Given the description of an element on the screen output the (x, y) to click on. 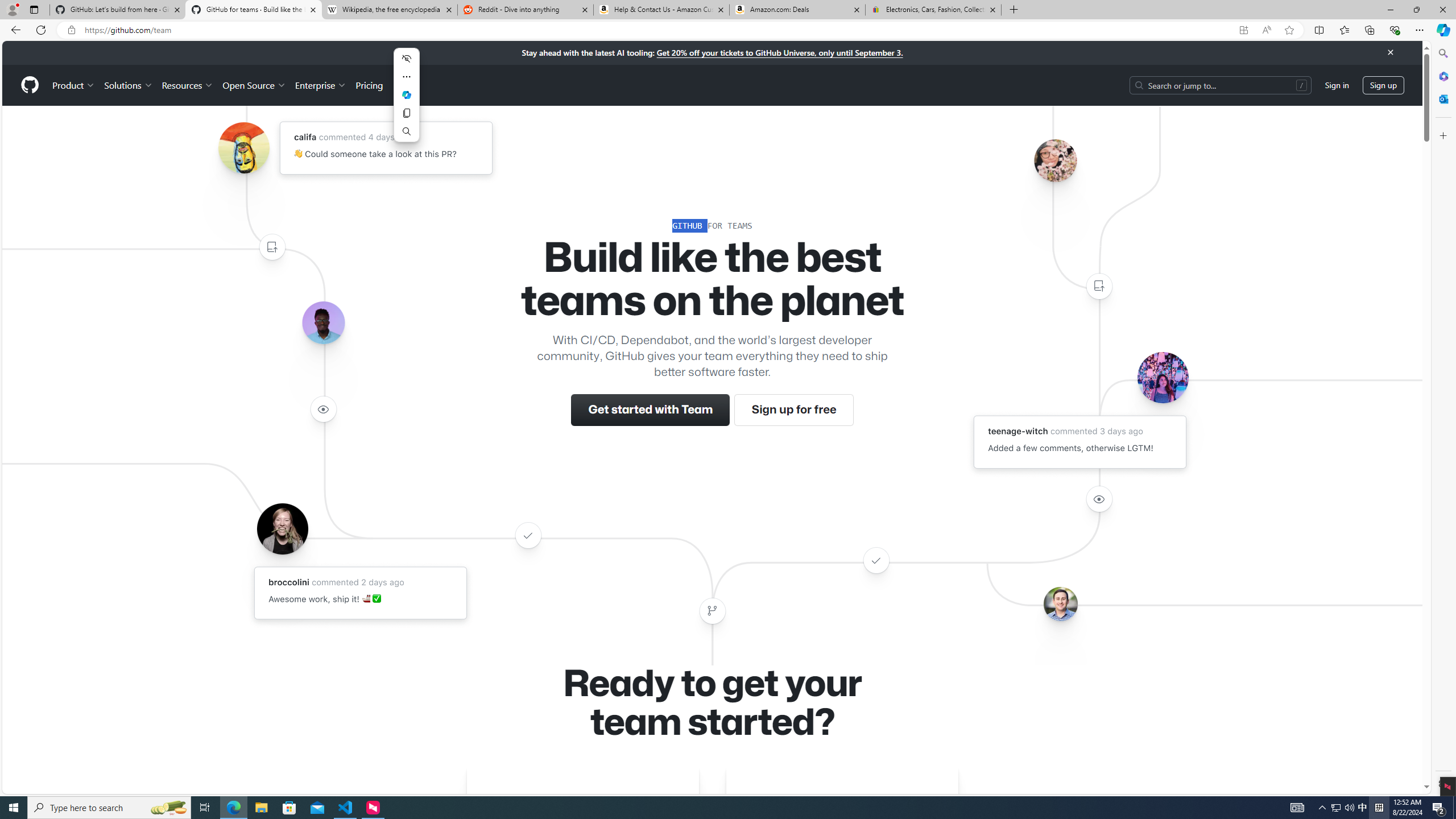
Avatar of the user lerebear (323, 322)
App available. Install GitHub (1243, 29)
Sign up for free (793, 409)
Hide menu (406, 58)
Homepage (29, 85)
More actions (406, 76)
Mini menu on text selection (406, 101)
Resources (187, 84)
Resources (187, 84)
